Given the description of an element on the screen output the (x, y) to click on. 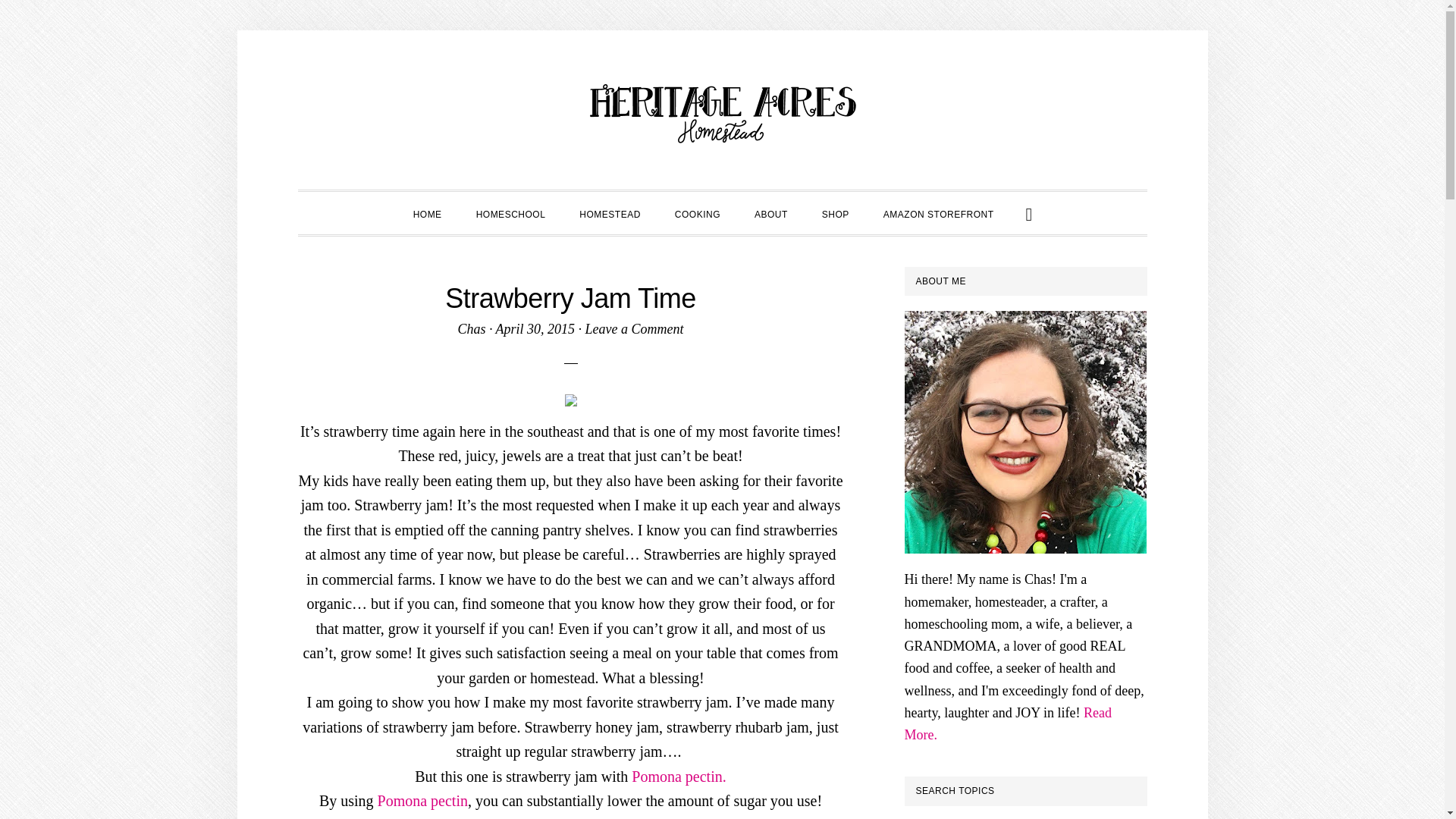
HOMESCHOOL (510, 212)
Leave a Comment (634, 328)
AMAZON STOREFRONT (938, 212)
HOMESTEAD (610, 212)
HOME (427, 212)
Pomona pectin (422, 800)
Chas (470, 328)
HERITAGE ACRES HOMESTEAD (721, 113)
SHOP (835, 212)
